Given the description of an element on the screen output the (x, y) to click on. 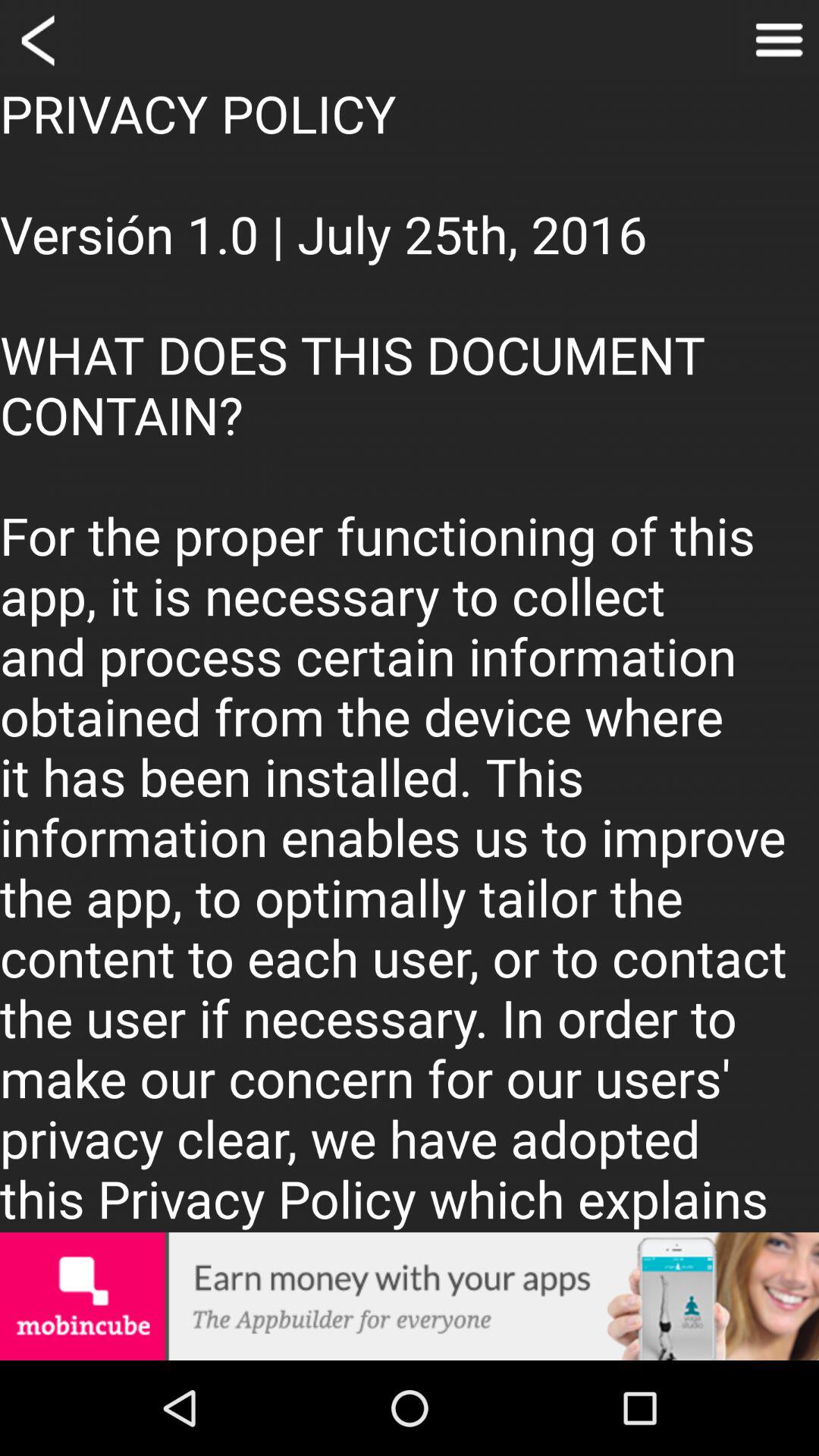
choose the icon at the bottom (409, 1296)
